Given the description of an element on the screen output the (x, y) to click on. 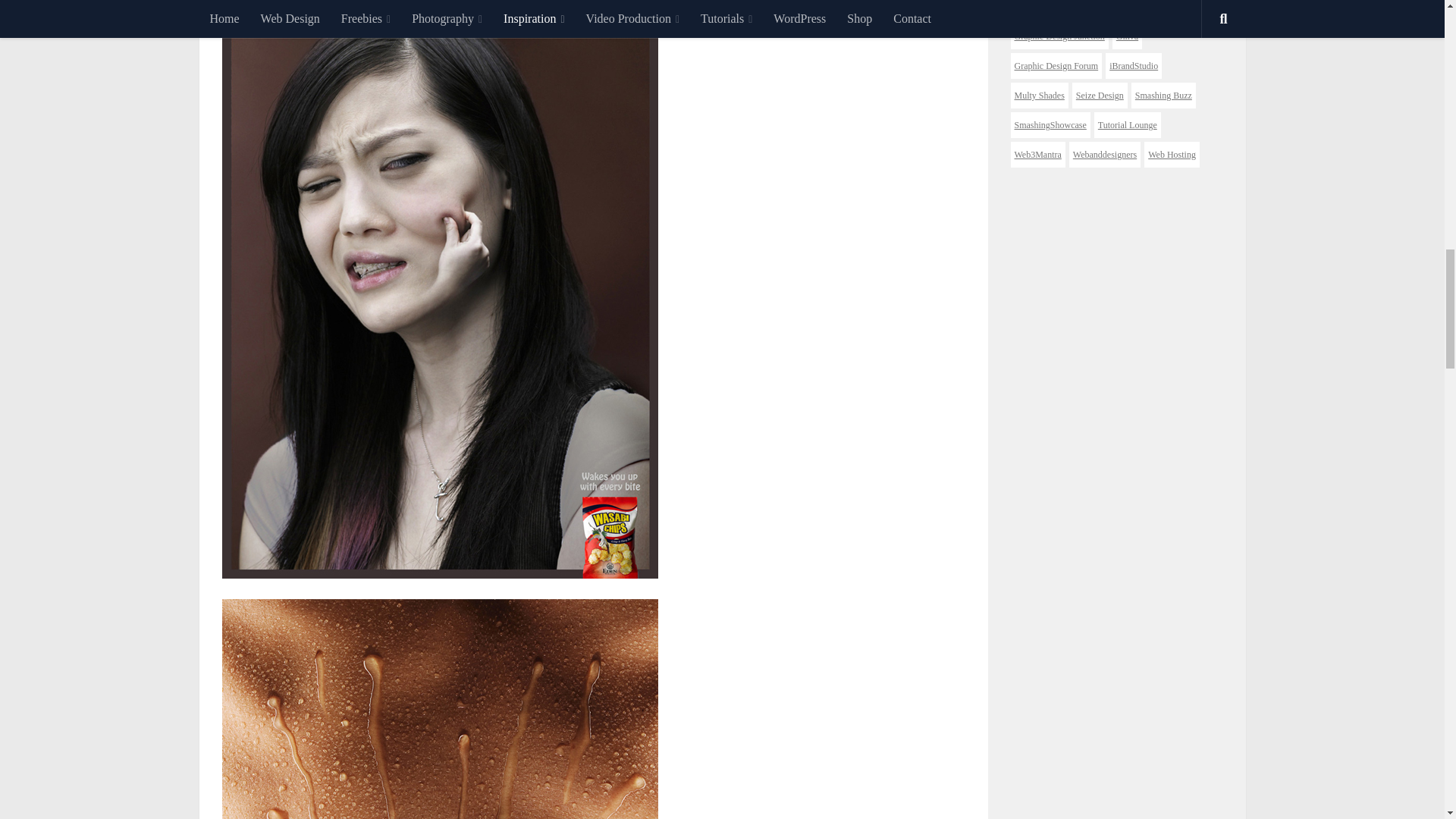
Creative and Funny Controversial Ads (439, 708)
